Given the description of an element on the screen output the (x, y) to click on. 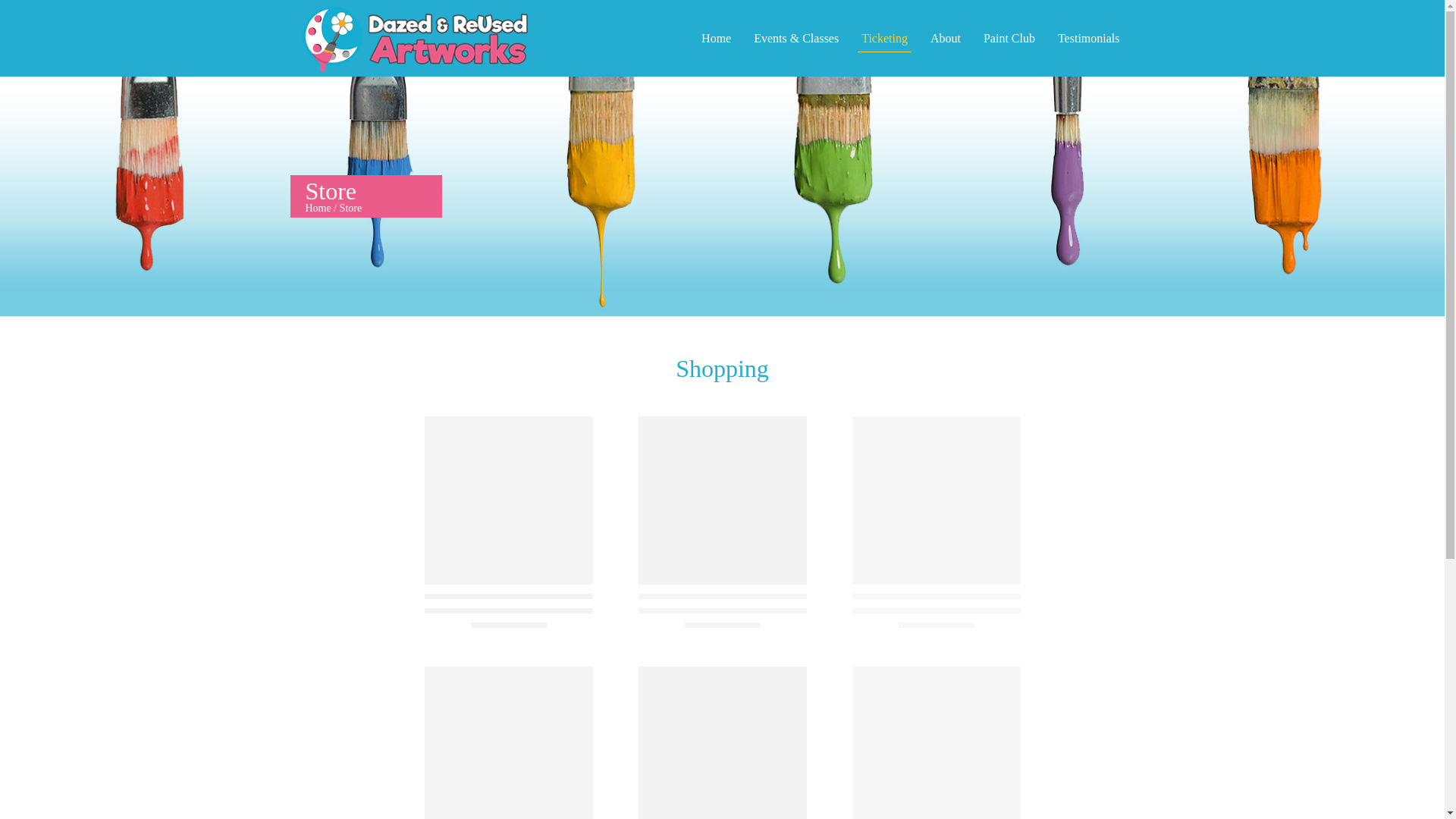
Paint Club (1009, 37)
Home (716, 37)
Testimonials (1089, 37)
Home (317, 207)
Ticketing (884, 37)
About (944, 37)
